Given the description of an element on the screen output the (x, y) to click on. 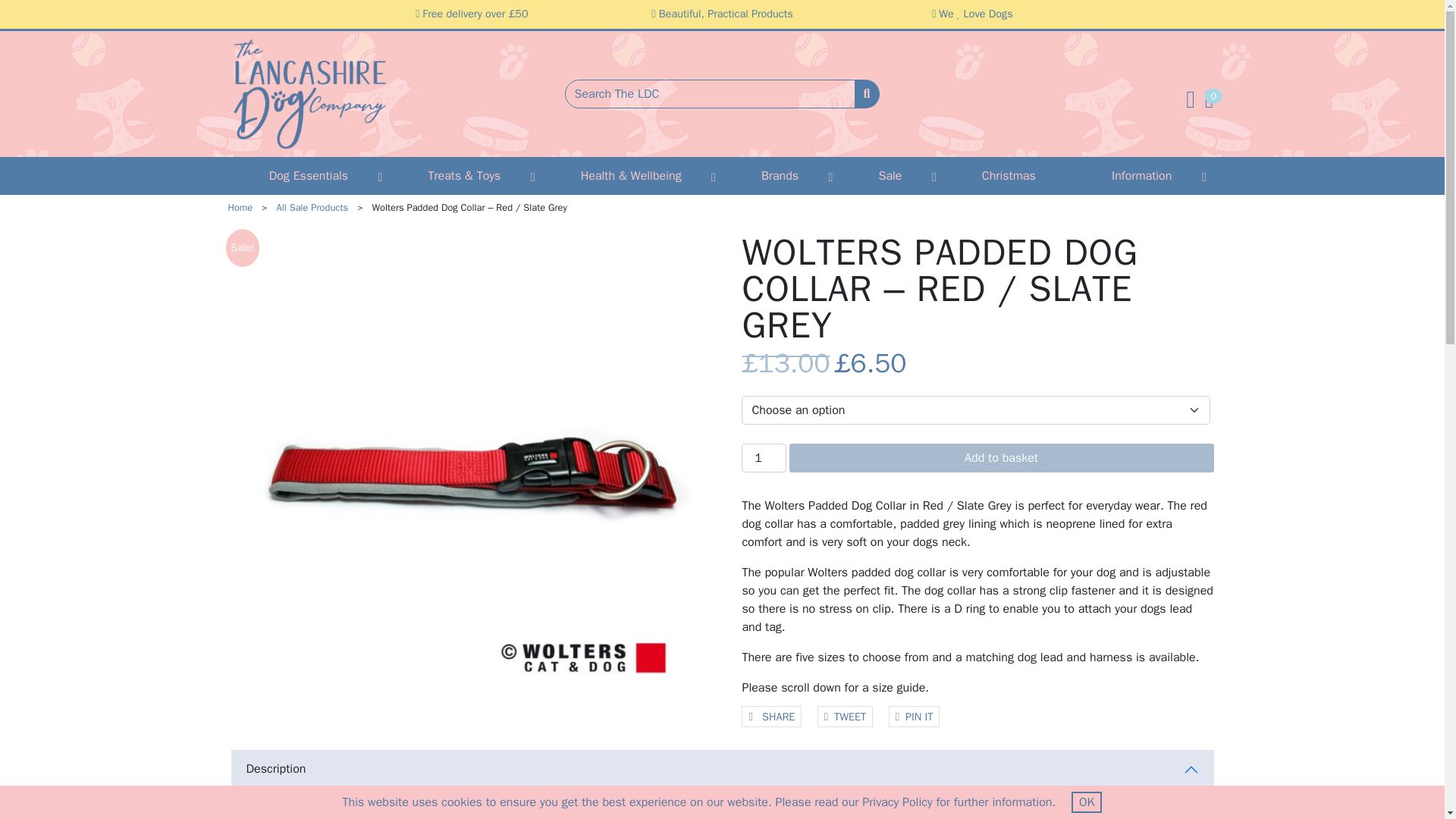
Qty (763, 457)
1 (763, 457)
Dog Essentials (310, 176)
